Given the description of an element on the screen output the (x, y) to click on. 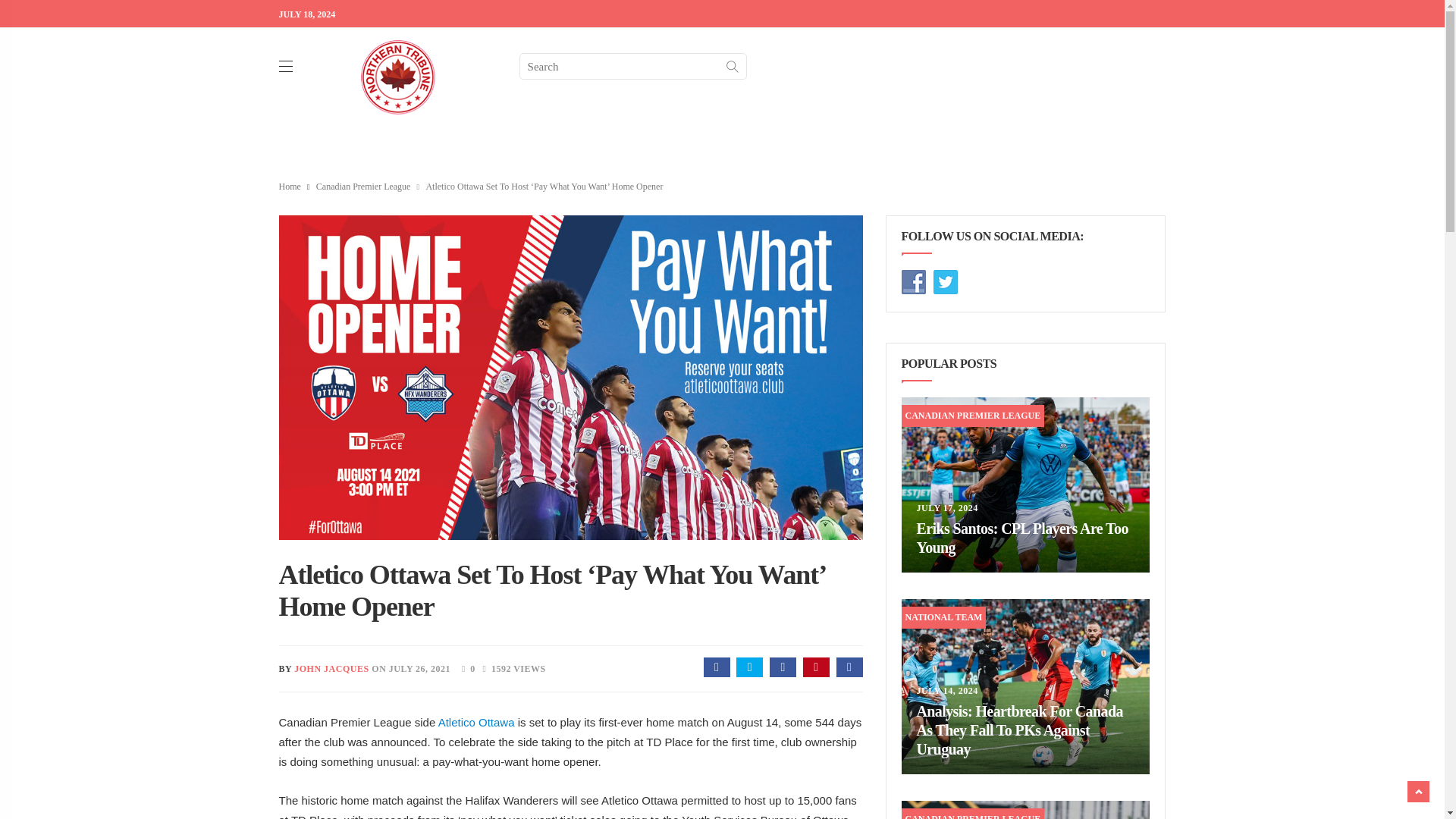
JOHN JACQUES (331, 668)
Canadian Premier League (362, 185)
Share this post on Twitter! (749, 667)
Share this post on Facebook! (716, 667)
0 (464, 667)
Atletico Ottawa (476, 721)
Posts by John Jacques (331, 668)
Home (290, 185)
Home (290, 185)
